Given the description of an element on the screen output the (x, y) to click on. 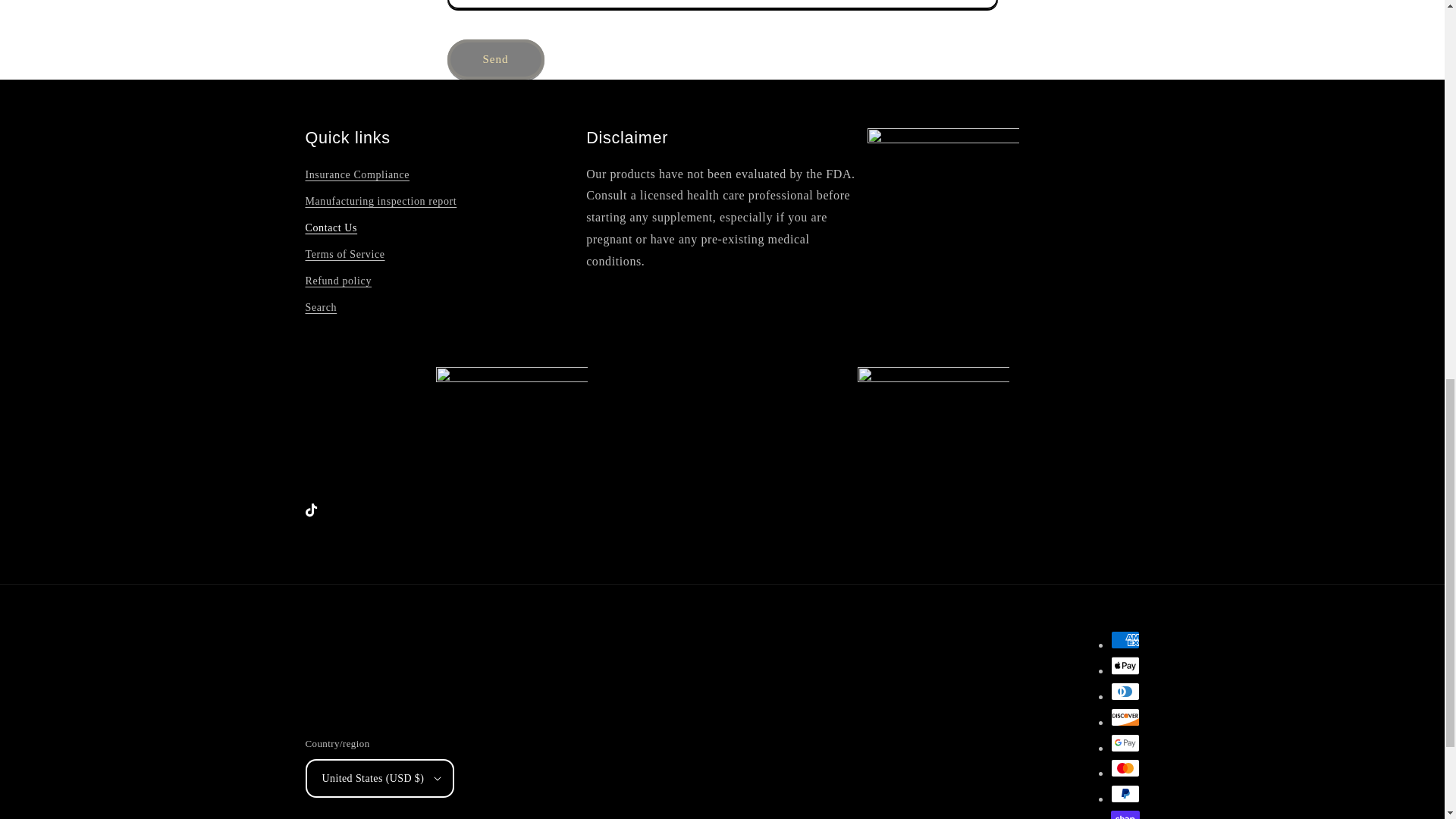
Terms of Service (344, 253)
Discover (1123, 717)
Refund policy (337, 280)
Diners Club (1123, 691)
Google Pay (1123, 742)
Shop Pay (1123, 814)
Contact Us (330, 227)
Manufacturing inspection report (380, 201)
American Express (1123, 639)
PayPal (1123, 793)
